Given the description of an element on the screen output the (x, y) to click on. 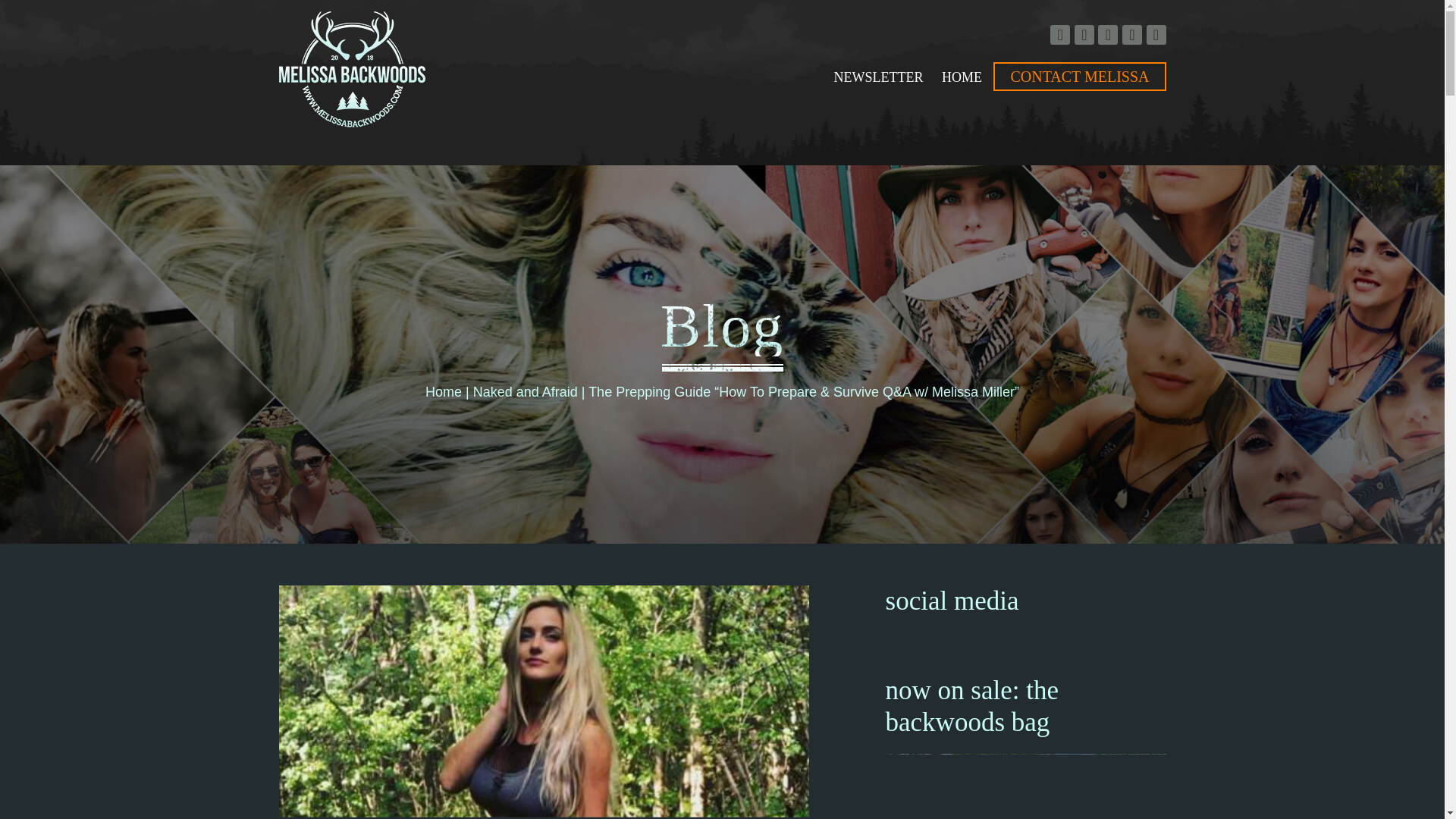
NEWSLETTER (877, 76)
HOME (962, 76)
Naked and Afraid (525, 391)
Home (443, 391)
CONTACT MELISSA (1079, 76)
